Given the description of an element on the screen output the (x, y) to click on. 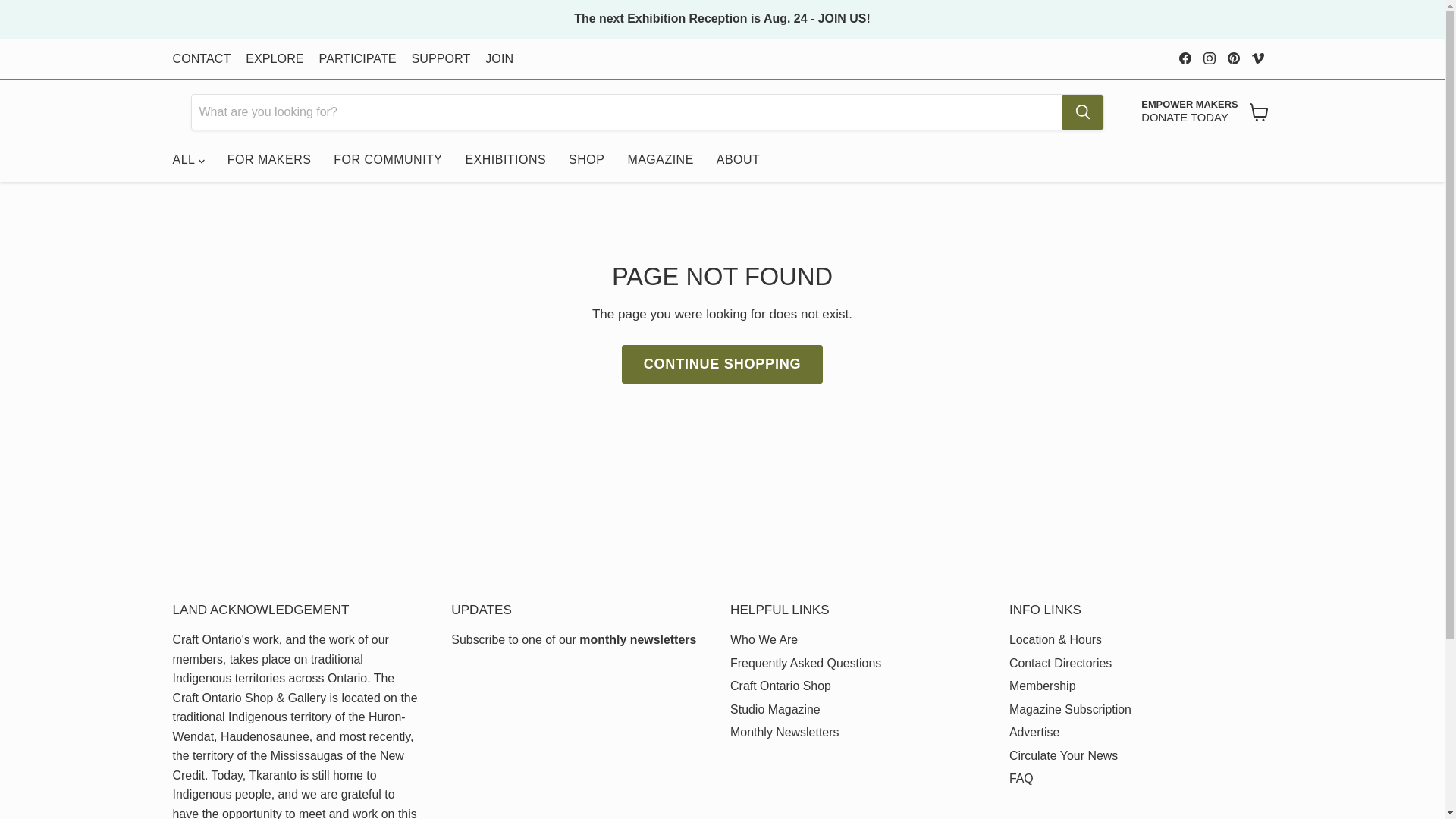
Pinterest (1233, 57)
Find us on Instagram (1209, 57)
Subscribe (637, 639)
Vimeo (1257, 57)
CONTACT (1189, 112)
Find us on Facebook (202, 58)
JOIN (1184, 57)
PARTICIPATE (498, 58)
View cart (357, 58)
